Given the description of an element on the screen output the (x, y) to click on. 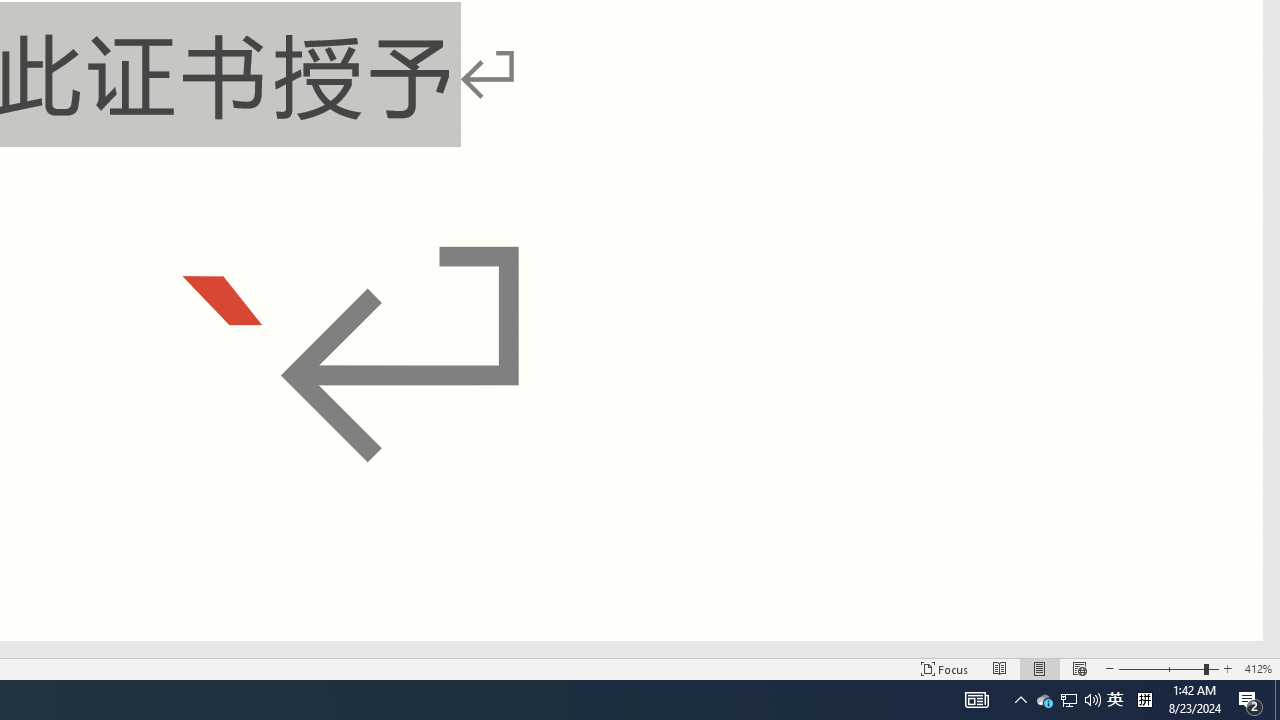
Tray Input Indicator - Chinese (Simplified, China) (1144, 699)
Zoom 412% (1258, 668)
